Given the description of an element on the screen output the (x, y) to click on. 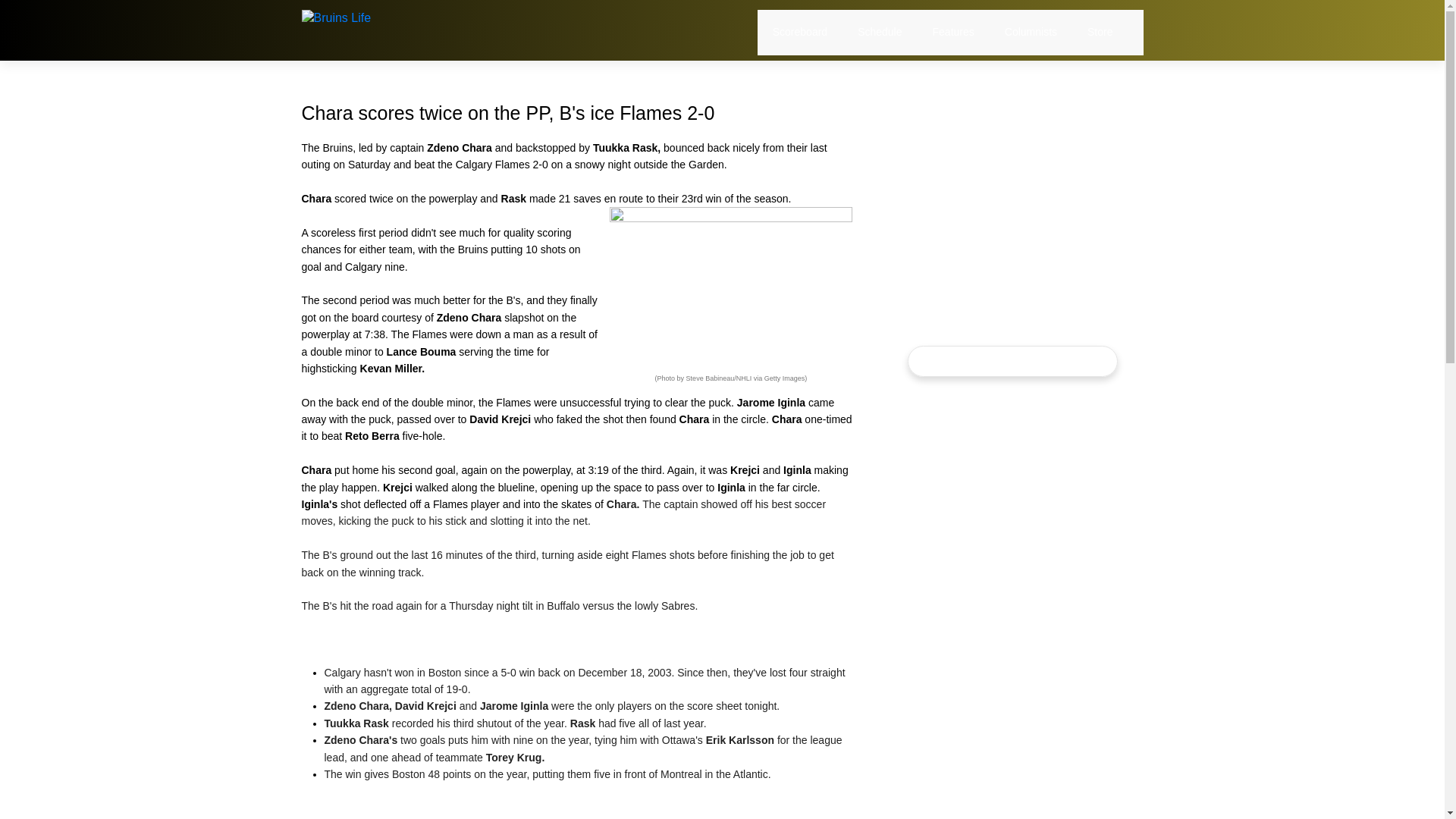
Schedule (879, 32)
Advertisement (1012, 504)
Scoreboard (800, 32)
Advertisement (1012, 178)
Features (953, 32)
Columnists (1030, 32)
